Given the description of an element on the screen output the (x, y) to click on. 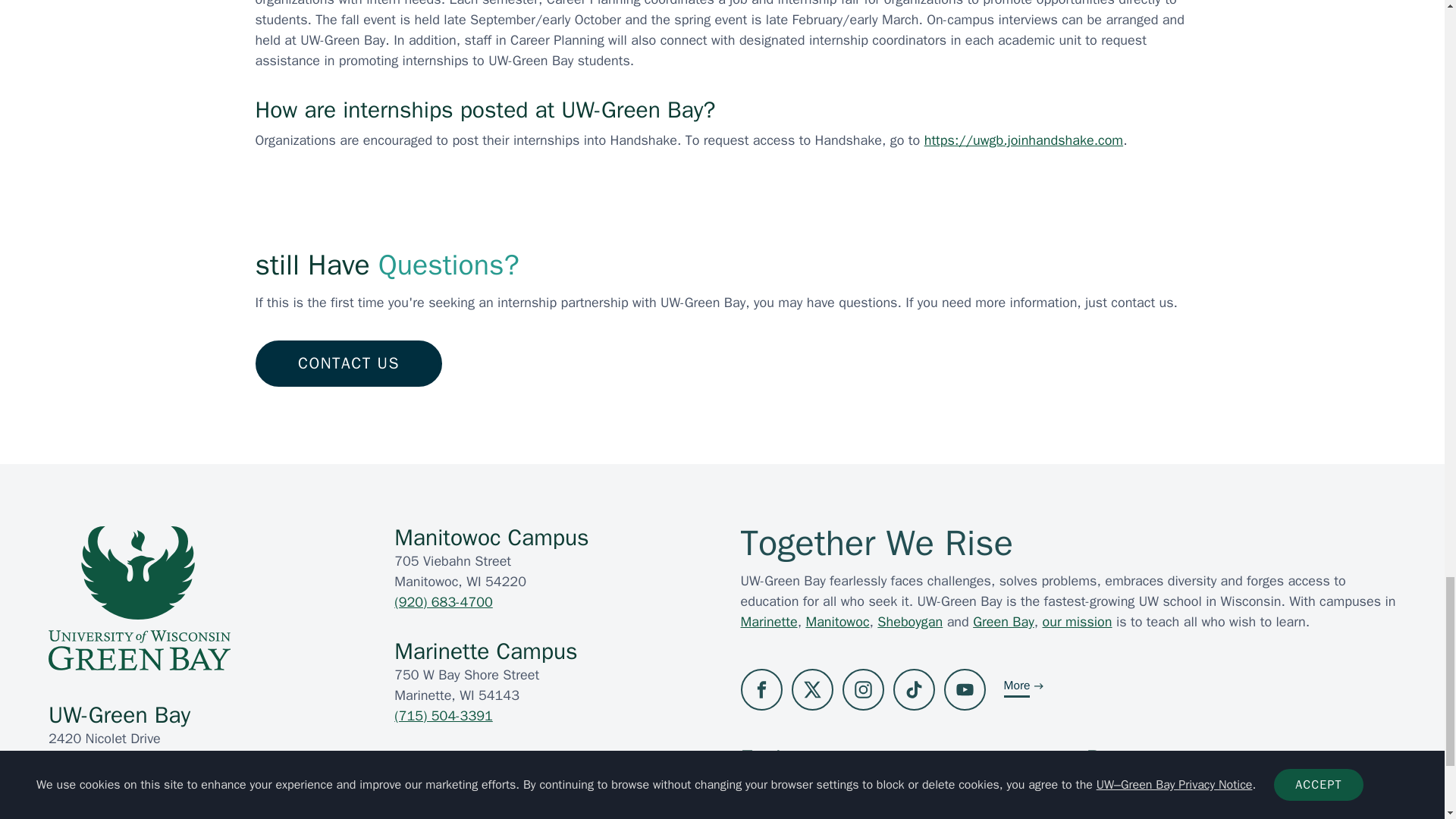
University of Wisconsin-Green Bay logo (139, 598)
